Given the description of an element on the screen output the (x, y) to click on. 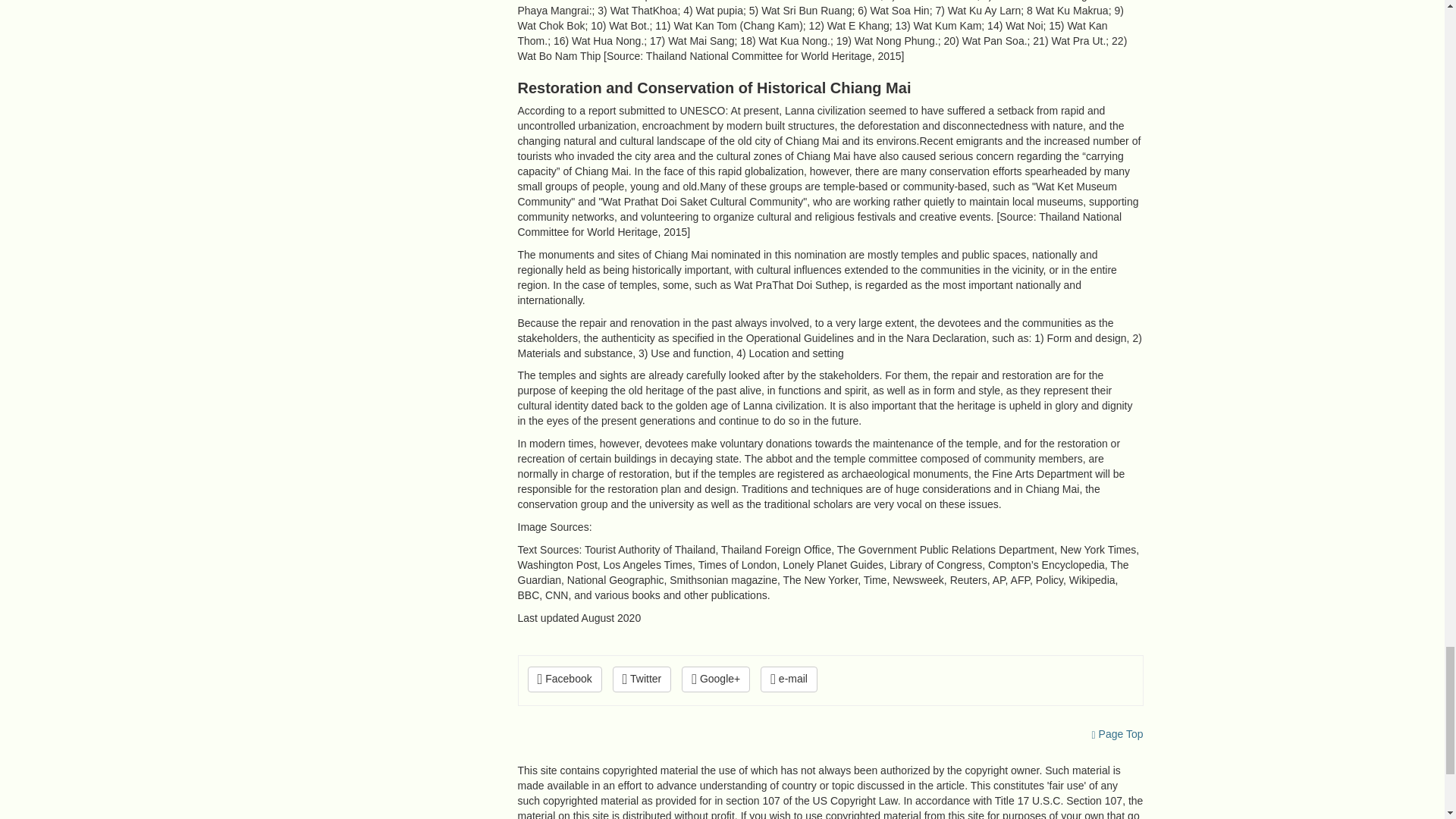
 e-mail (788, 679)
e-mail a link to this page (788, 679)
 Twitter (641, 679)
 Page Top (1117, 734)
 Facebook (564, 679)
